Given the description of an element on the screen output the (x, y) to click on. 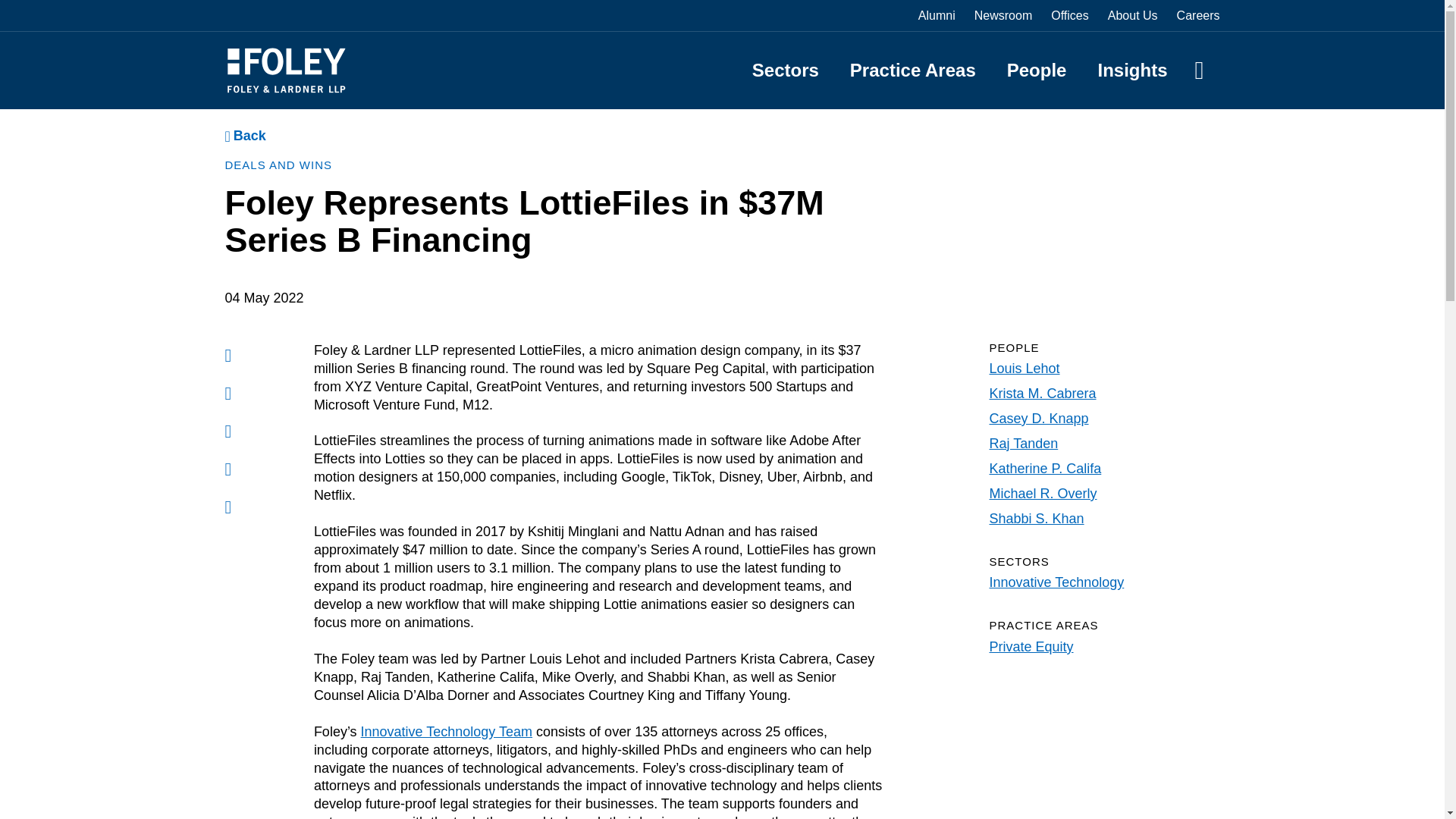
About Us (1132, 15)
Insights (1132, 70)
People (1037, 70)
Katherine P. Califa (1044, 468)
Louis Lehot (1023, 368)
Krista M. Cabrera (1042, 393)
Offices (1070, 15)
Sectors (785, 70)
Michael R. Overly (1042, 493)
Careers (1198, 15)
Practice Areas (912, 70)
DEALS AND WINS (277, 164)
Shabbi S. Khan (1035, 518)
Raj Tanden (1023, 443)
Back (244, 136)
